Given the description of an element on the screen output the (x, y) to click on. 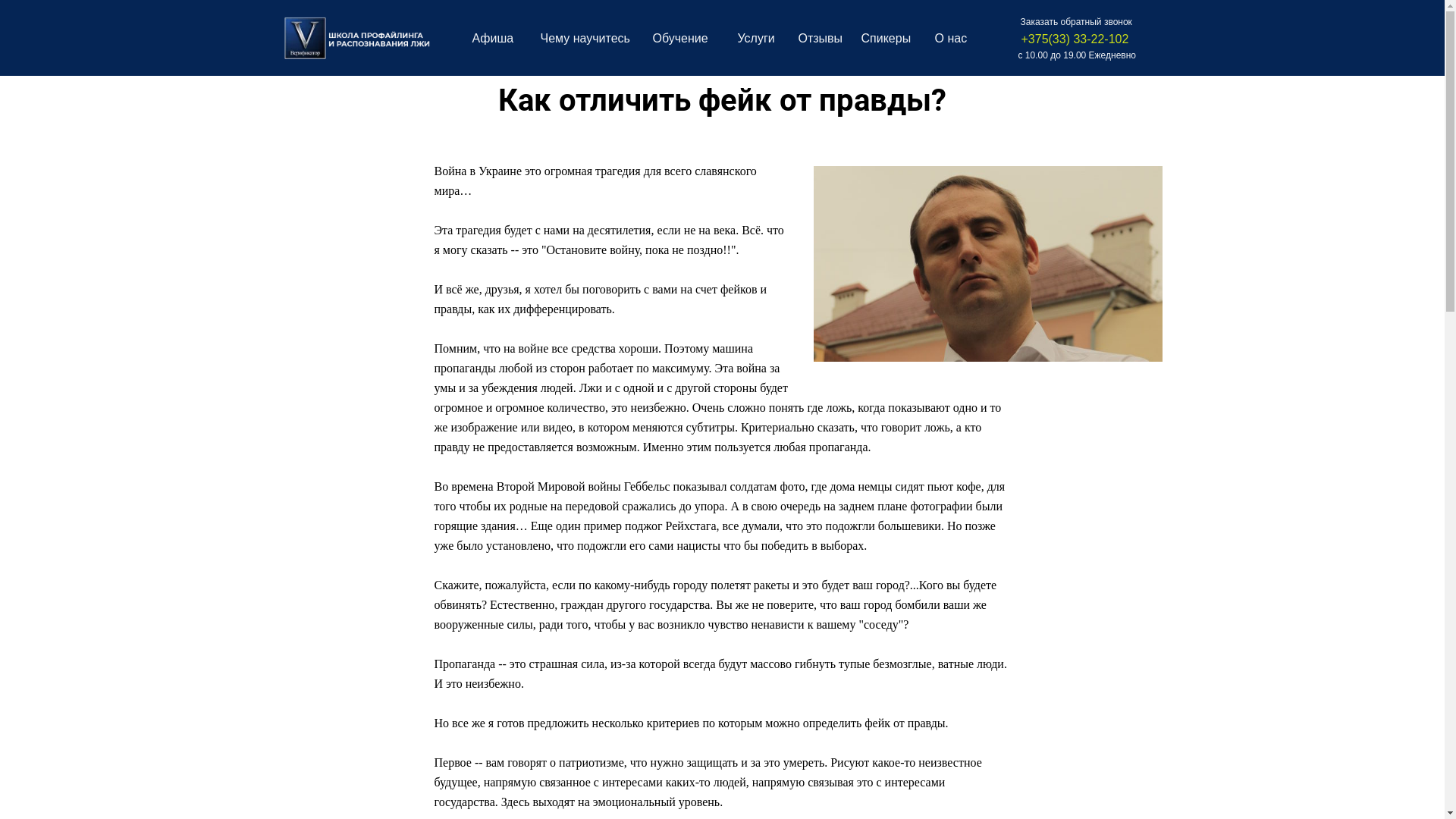
+375(33) 33-22-102 Element type: text (1074, 38)
